Given the description of an element on the screen output the (x, y) to click on. 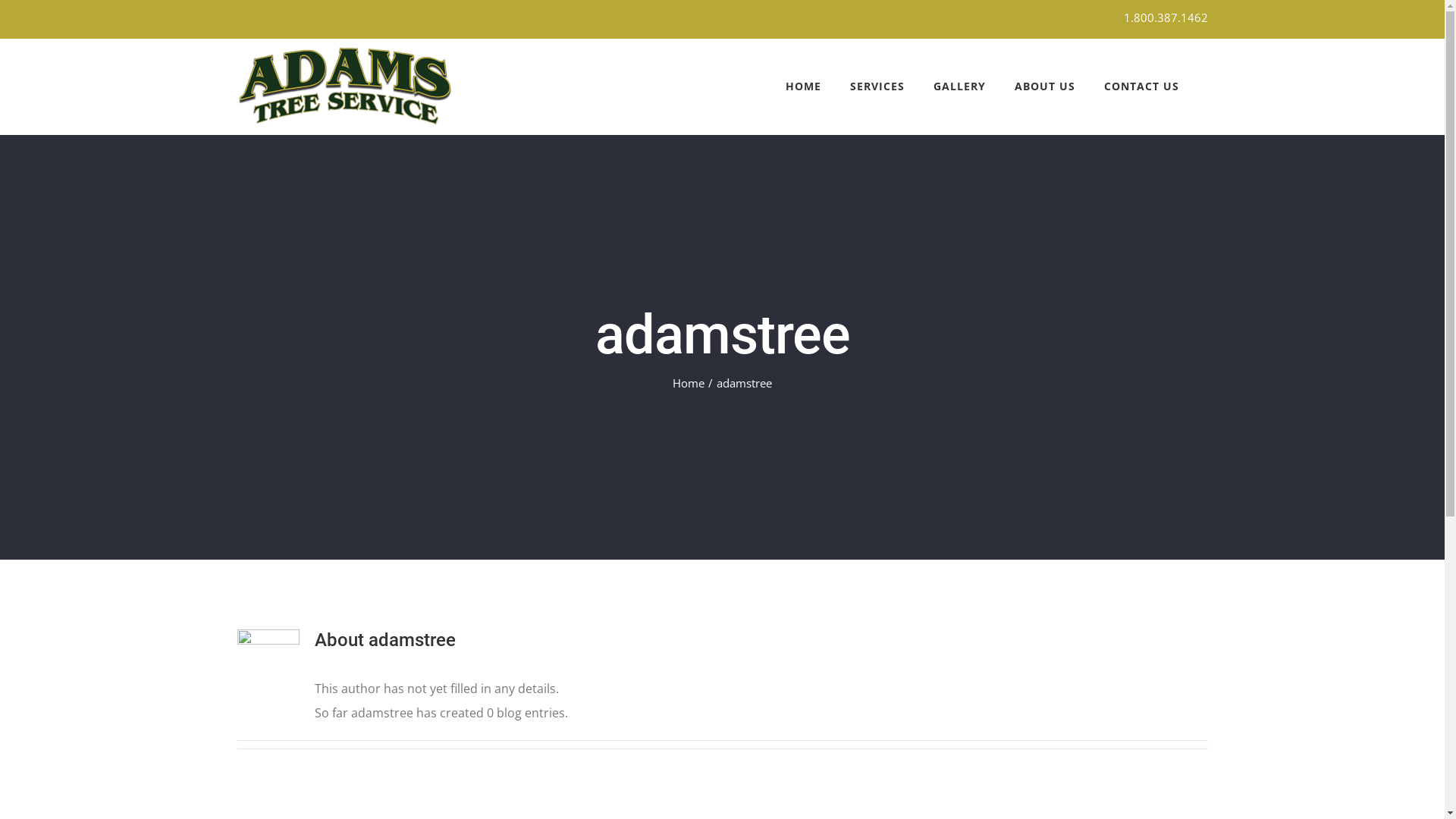
Home Element type: text (688, 382)
CONTACT US Element type: text (1141, 86)
1.800.387.1462 Element type: text (1165, 17)
HOME Element type: text (803, 86)
GALLERY Element type: text (958, 86)
ABOUT US Element type: text (1044, 86)
SERVICES Element type: text (876, 86)
